Given the description of an element on the screen output the (x, y) to click on. 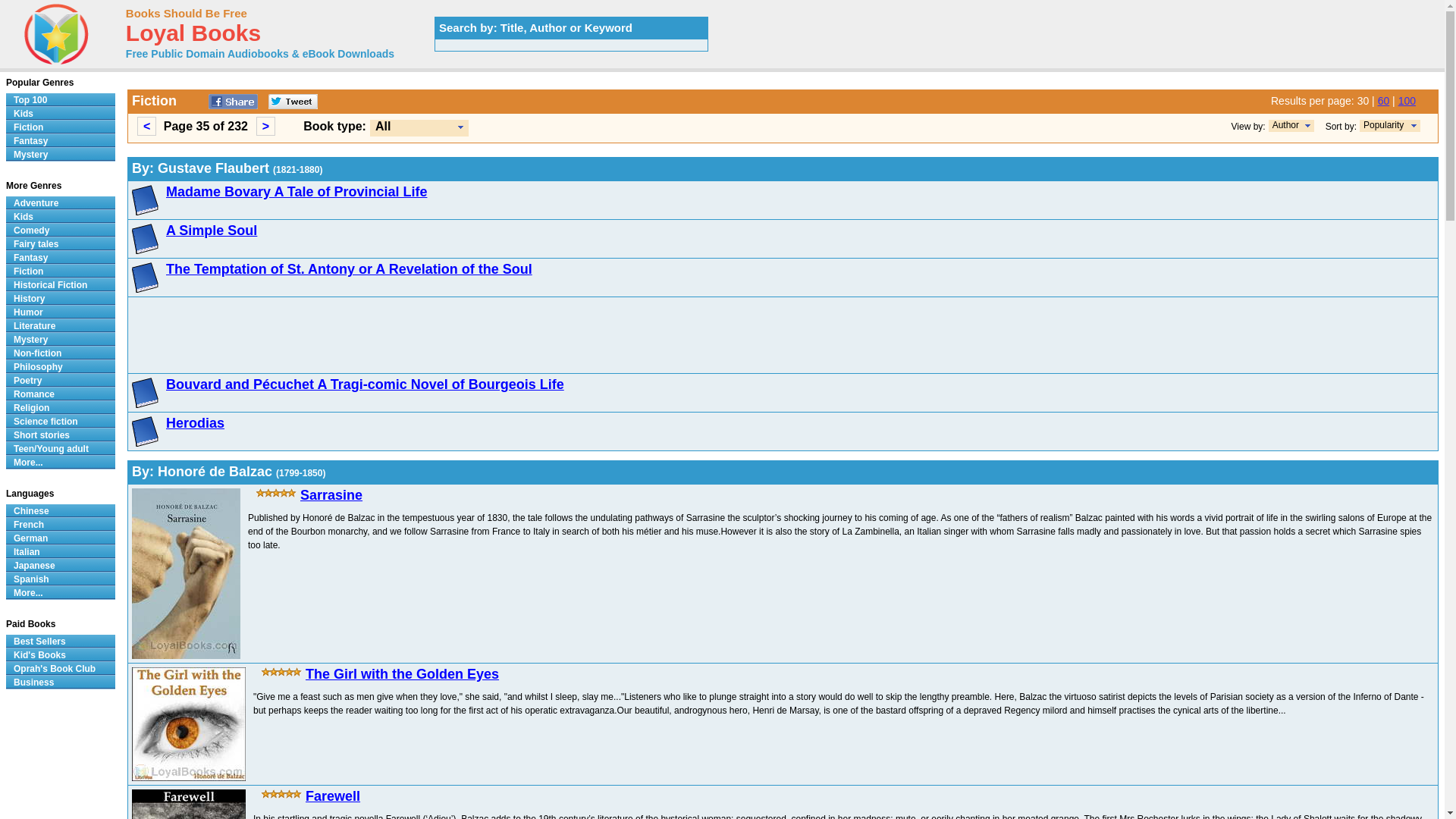
Books Should Be Free (186, 12)
Popularity (1390, 125)
Advertisement (587, 335)
Author (1291, 125)
Madame Bovary A Tale of Provincial Life (295, 191)
Farewell (332, 795)
60 (1383, 101)
Herodias (194, 422)
All (418, 127)
Author (1285, 124)
Sarrasine (330, 494)
100 (1406, 101)
Popularity (1382, 124)
The Temptation of St. Antony or A Revelation of the Soul (348, 268)
All (382, 126)
